Given the description of an element on the screen output the (x, y) to click on. 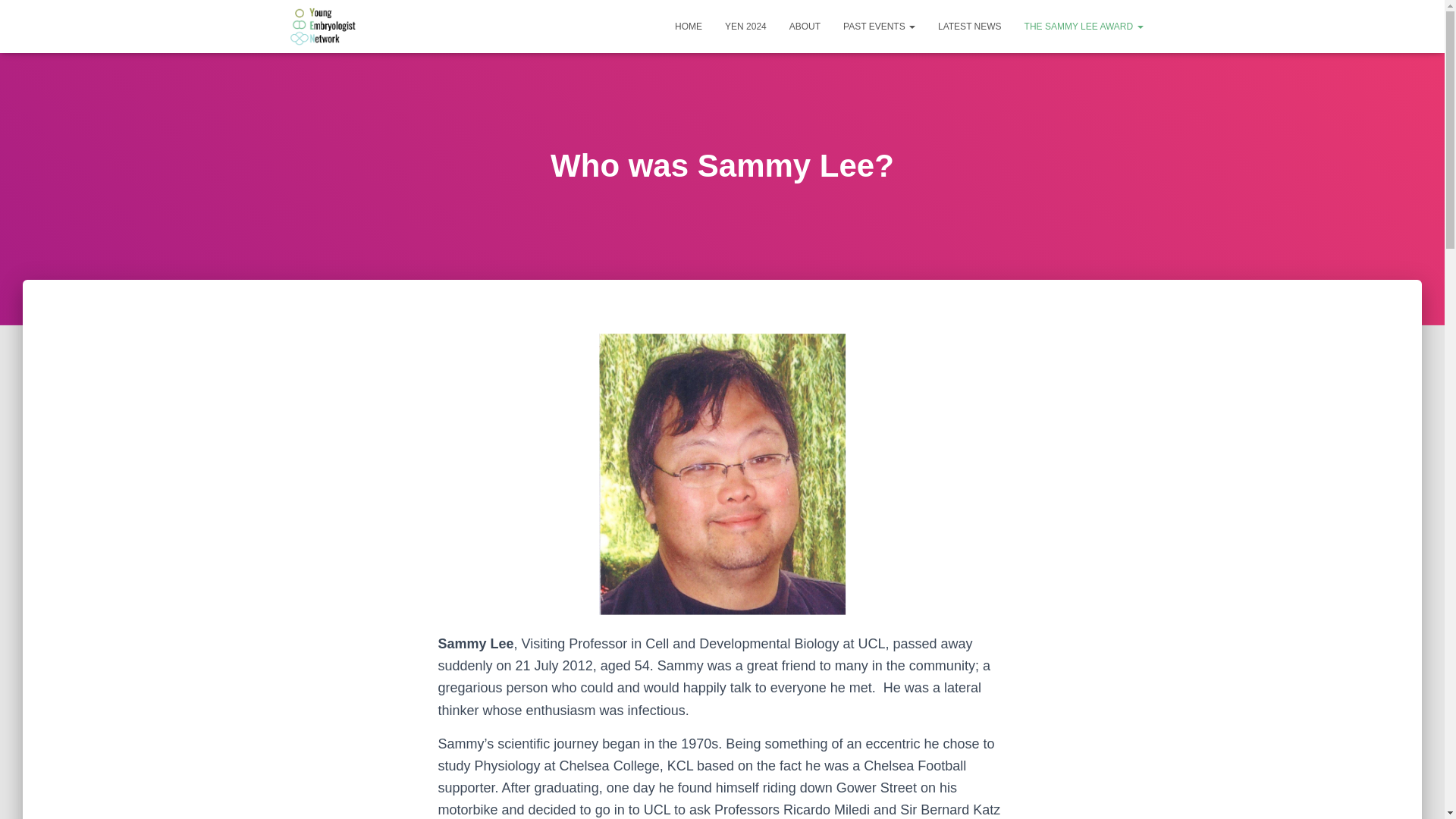
YEN (323, 26)
ABOUT (804, 26)
Past Events (878, 26)
About (804, 26)
HOME (688, 26)
LATEST NEWS (969, 26)
YEN 2024 (745, 26)
THE SAMMY LEE AWARD (1083, 26)
Home (688, 26)
PAST EVENTS (878, 26)
